Given the description of an element on the screen output the (x, y) to click on. 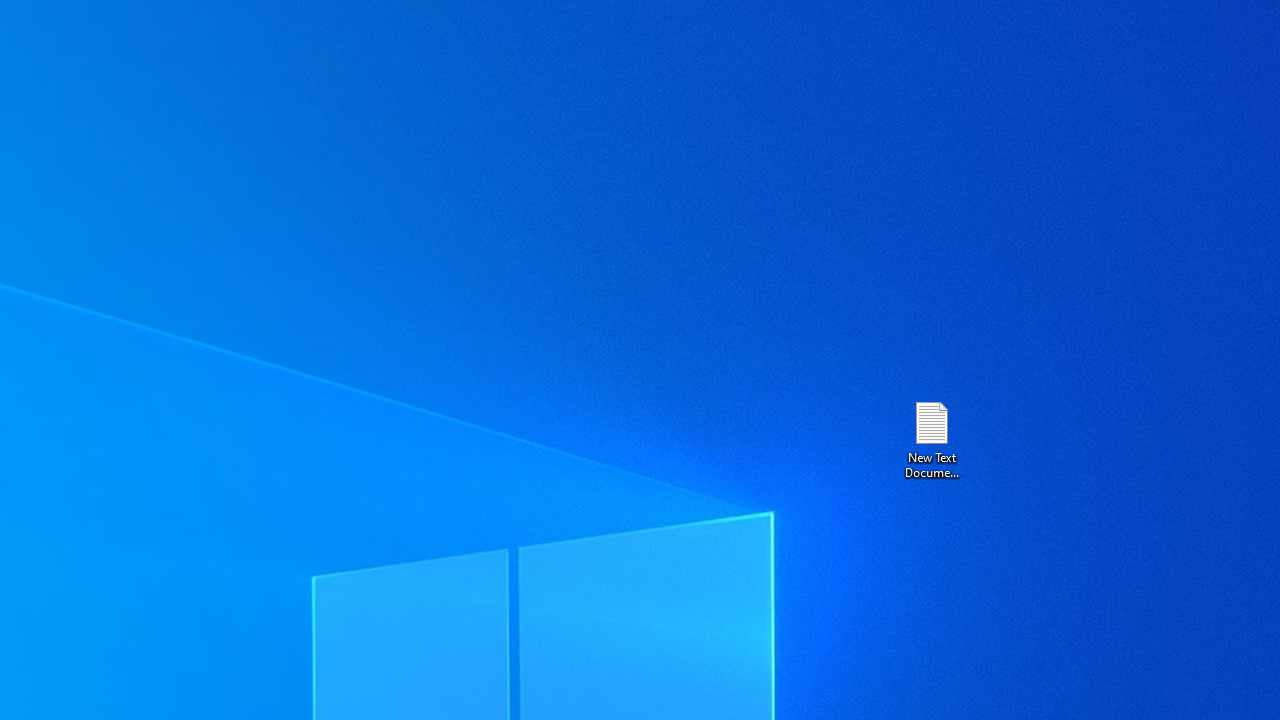
New Text Document (2) (931, 438)
